Given the description of an element on the screen output the (x, y) to click on. 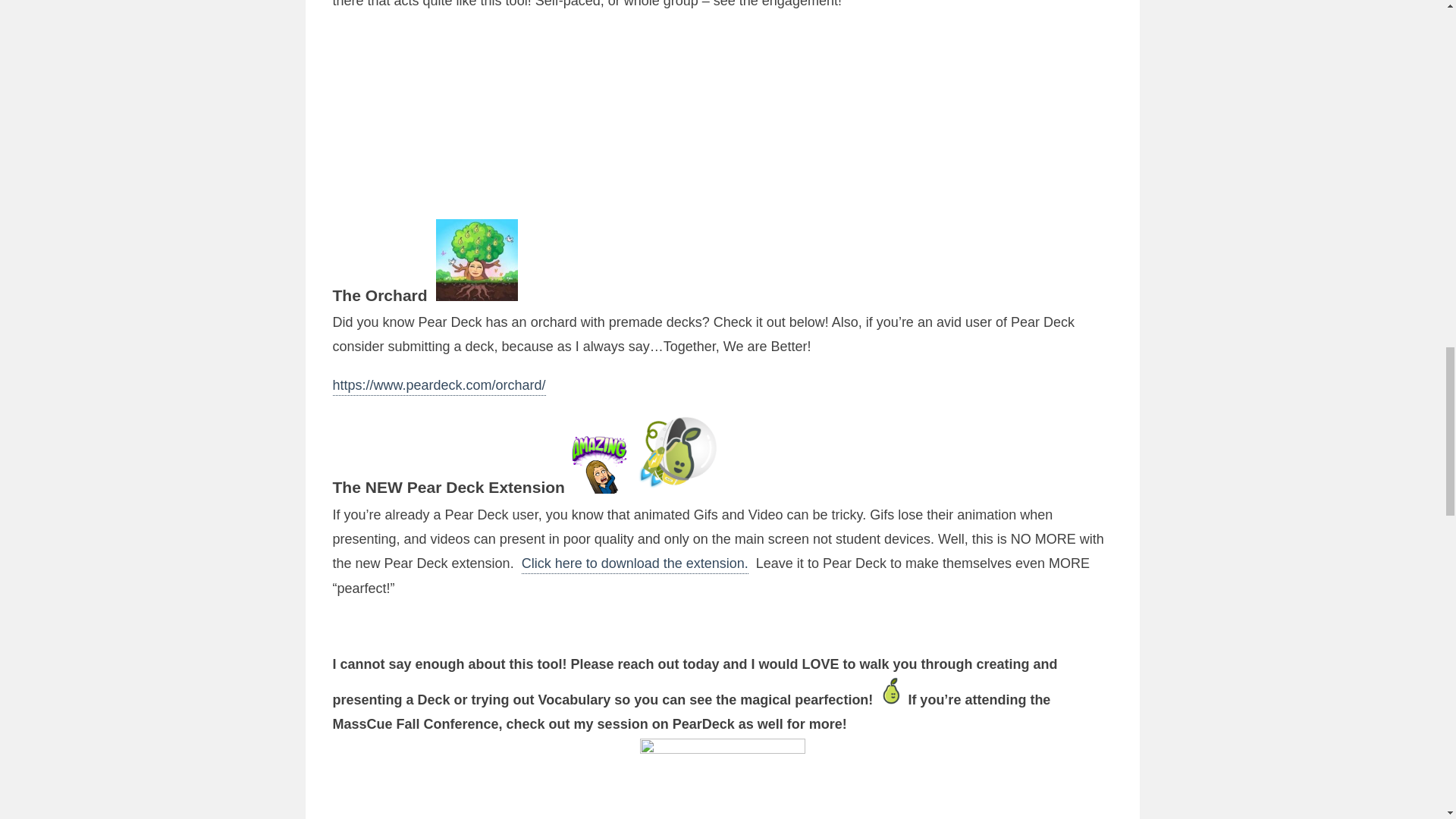
Privacy Policy (1163, 255)
Click here to download the extension. (634, 565)
Subscribe me! (1050, 290)
Subscribe me! (1050, 290)
Terms of Service (1107, 264)
Subscribe (1301, 128)
